Given the description of an element on the screen output the (x, y) to click on. 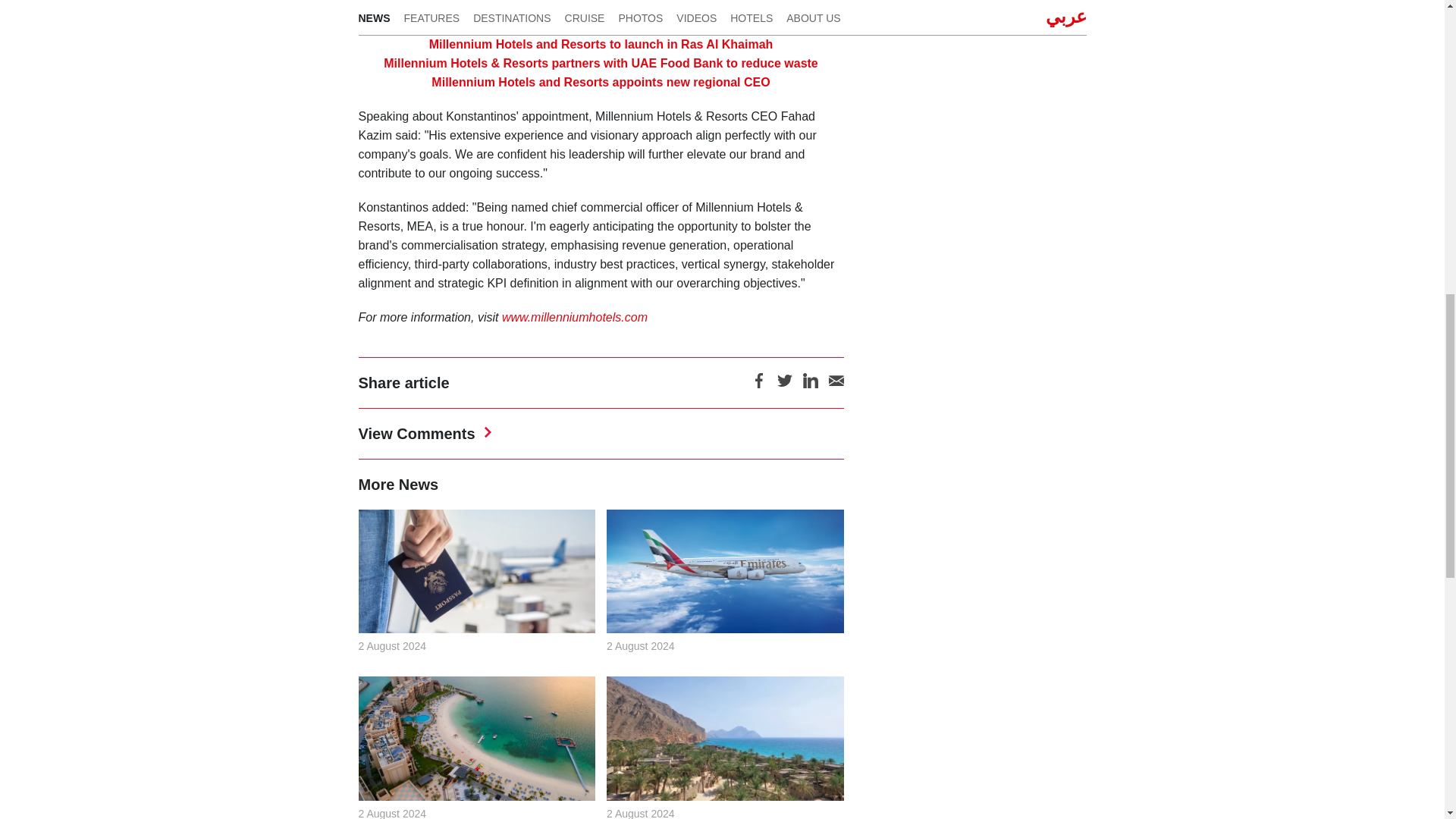
Share on Twitter (784, 385)
Share by email (835, 385)
Share on LinkedIn (809, 385)
Share on Facebook (758, 385)
